Given the description of an element on the screen output the (x, y) to click on. 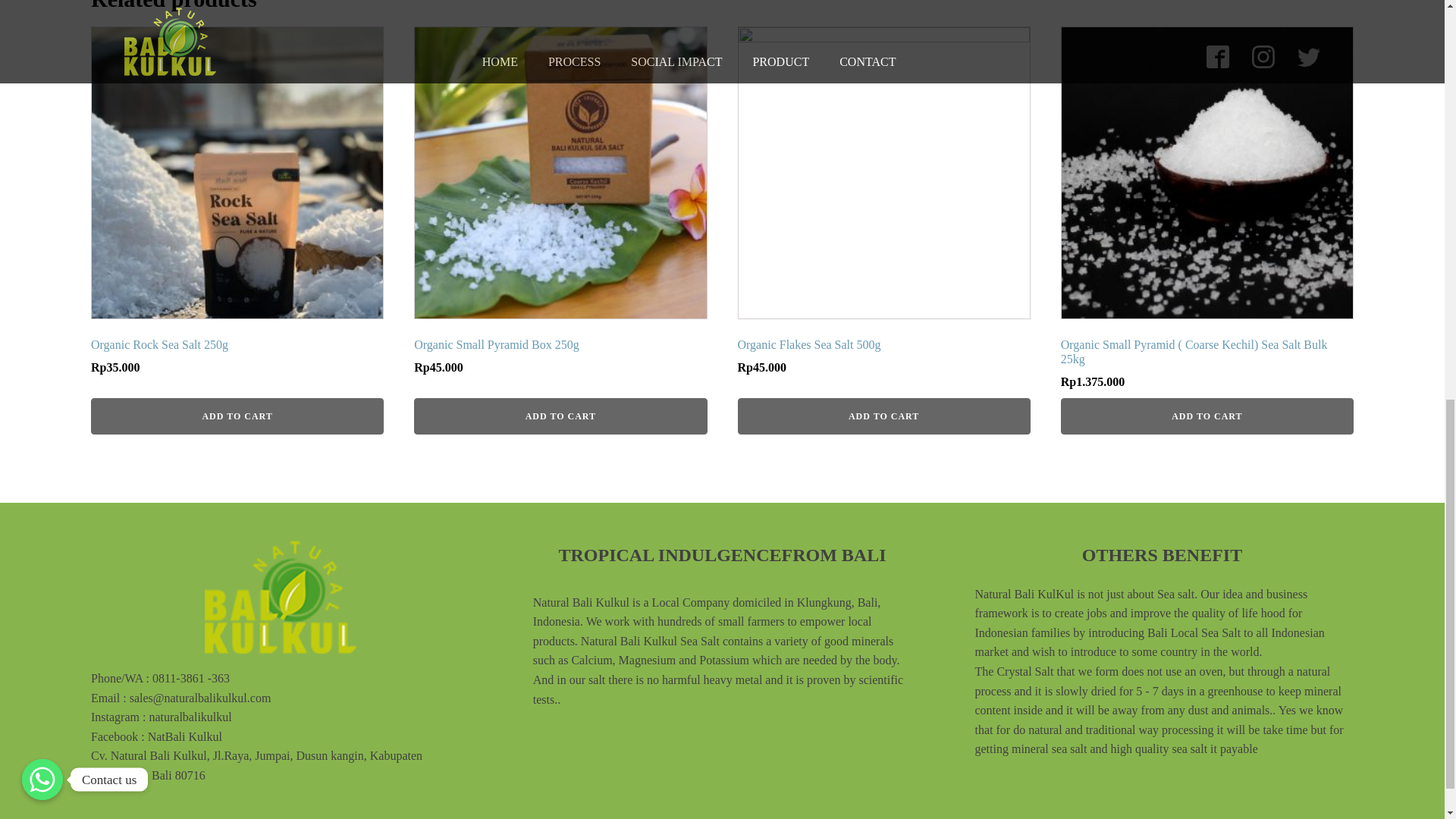
ADD TO CART (882, 205)
ADD TO CART (559, 205)
ADD TO CART (559, 416)
ADD TO CART (237, 205)
